Given the description of an element on the screen output the (x, y) to click on. 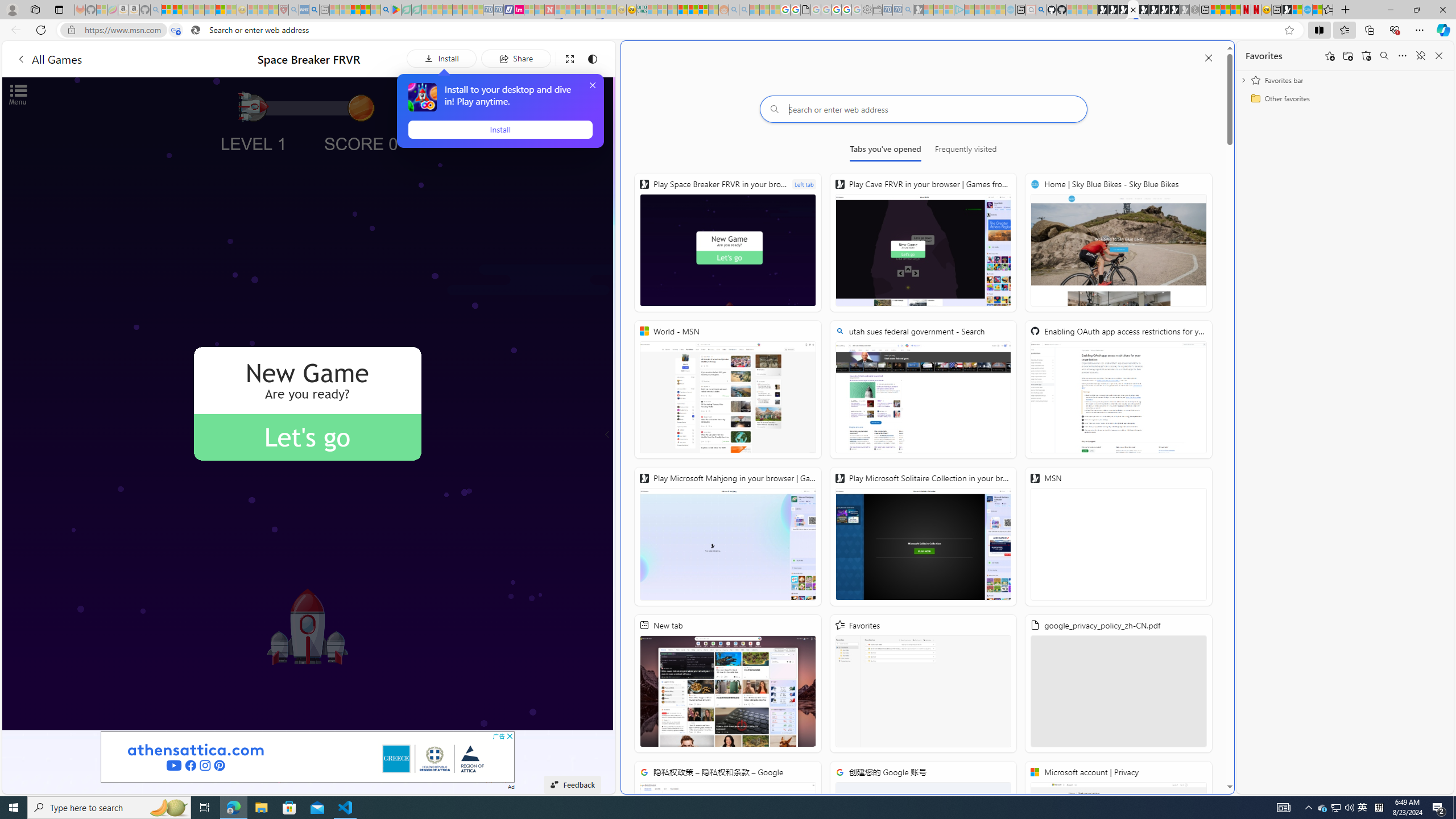
Full screen (569, 58)
All Games (49, 58)
Latest Politics News & Archive | Newsweek.com - Sleeping (549, 9)
Play Cave FRVR in your browser | Games from Microsoft Start (1122, 9)
Home | Sky Blue Bikes - Sky Blue Bikes - Sleeping (1010, 9)
Frequently visited (965, 151)
